Given the description of an element on the screen output the (x, y) to click on. 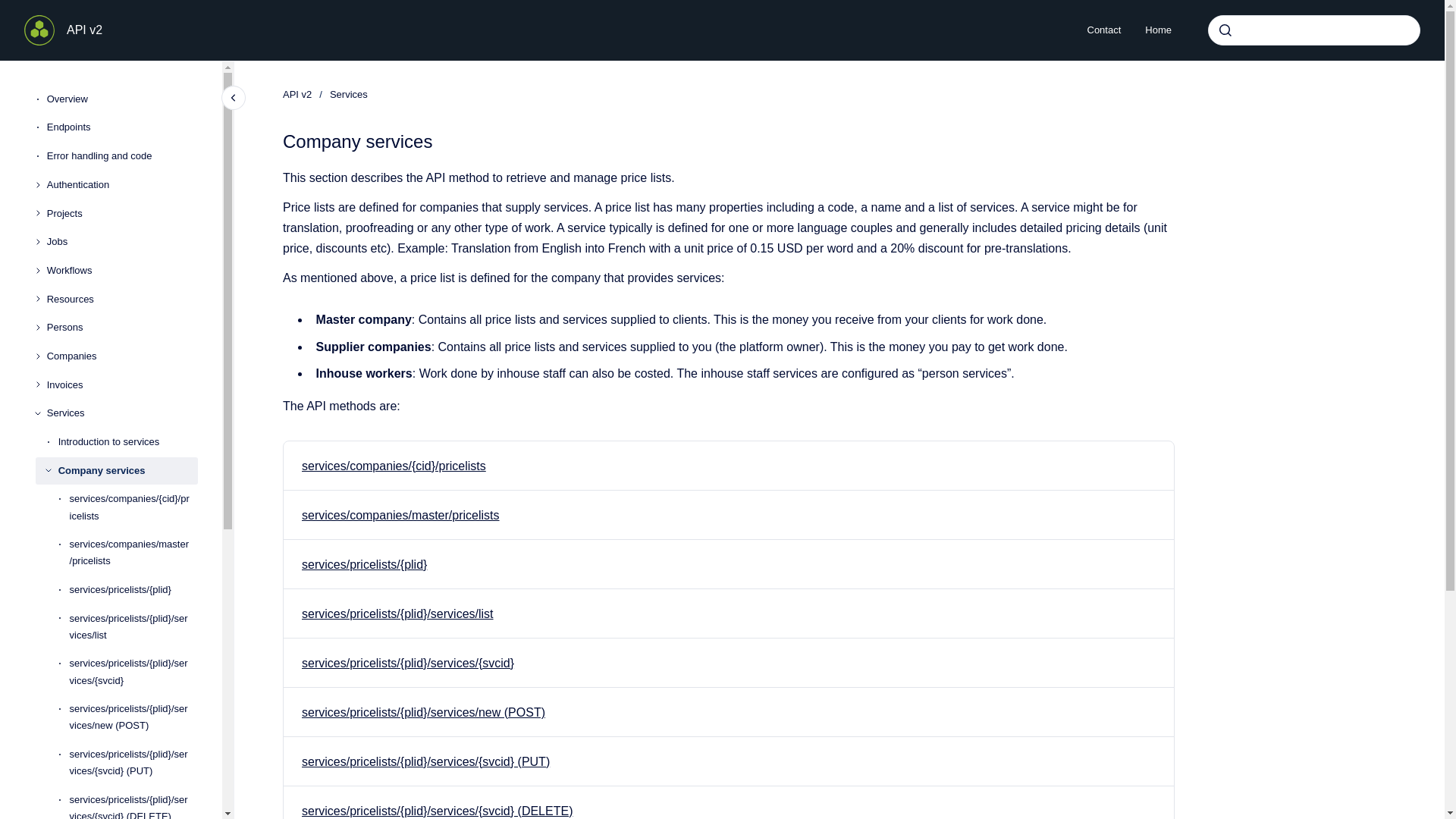
Home (1157, 29)
Error handling and code (122, 155)
Projects (122, 213)
Endpoints (122, 127)
Jobs (122, 241)
Overview (122, 99)
API v2 (83, 29)
Company services (128, 470)
Workflows (122, 270)
Introduction to services (128, 441)
Companies (122, 356)
Persons (122, 327)
Services (122, 413)
Invoices (122, 384)
Resources (122, 298)
